Given the description of an element on the screen output the (x, y) to click on. 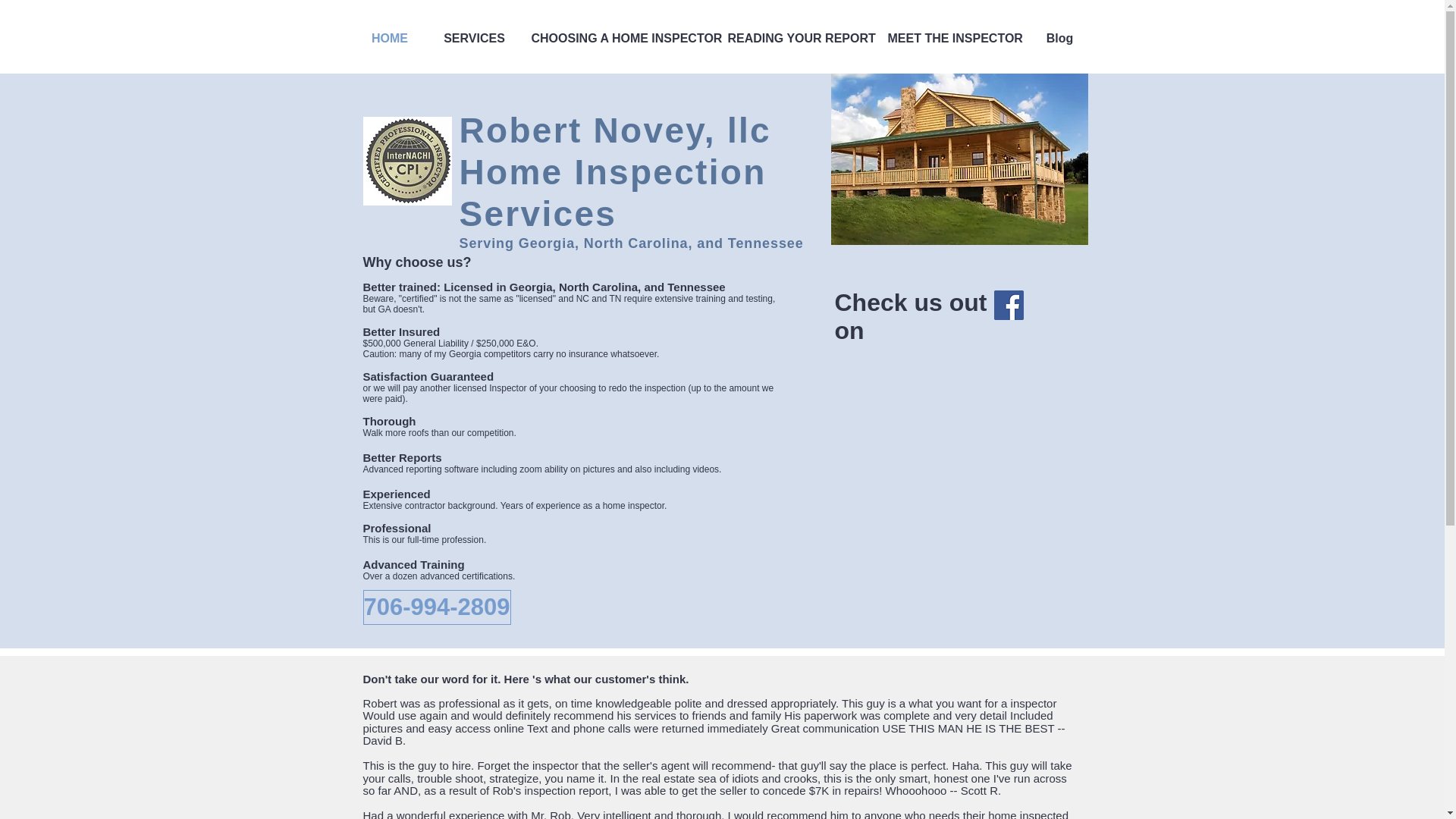
Blog (1059, 38)
READING YOUR REPORT (796, 38)
CHOOSING A HOME INSPECTOR (617, 38)
SERVICES (474, 38)
706-994-2809 (436, 606)
MEET THE INSPECTOR (951, 38)
HOME (389, 38)
